Given the description of an element on the screen output the (x, y) to click on. 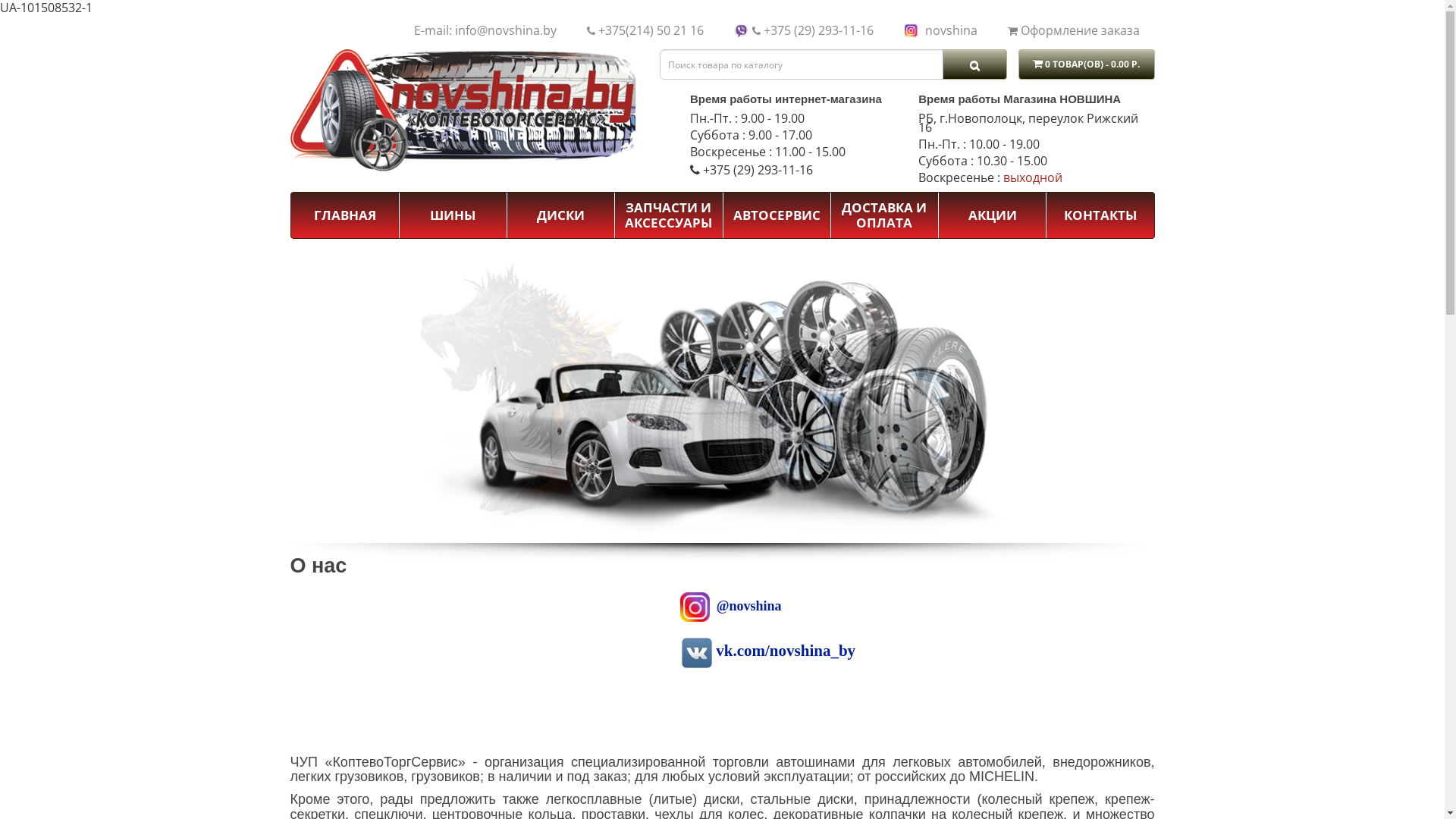
+375(214) 50 21 16 Element type: text (649, 29)
instagram Element type: hover (910, 31)
Viber Element type: hover (741, 31)
novshina Element type: text (951, 29)
info@novshina.by Element type: text (505, 29)
@novshina Element type: text (748, 605)
+375 (29) 293-11-16 Element type: text (757, 168)
+375 (29) 293-11-16 Element type: text (817, 29)
vk.com/novshina_by Element type: text (785, 650)
